Given the description of an element on the screen output the (x, y) to click on. 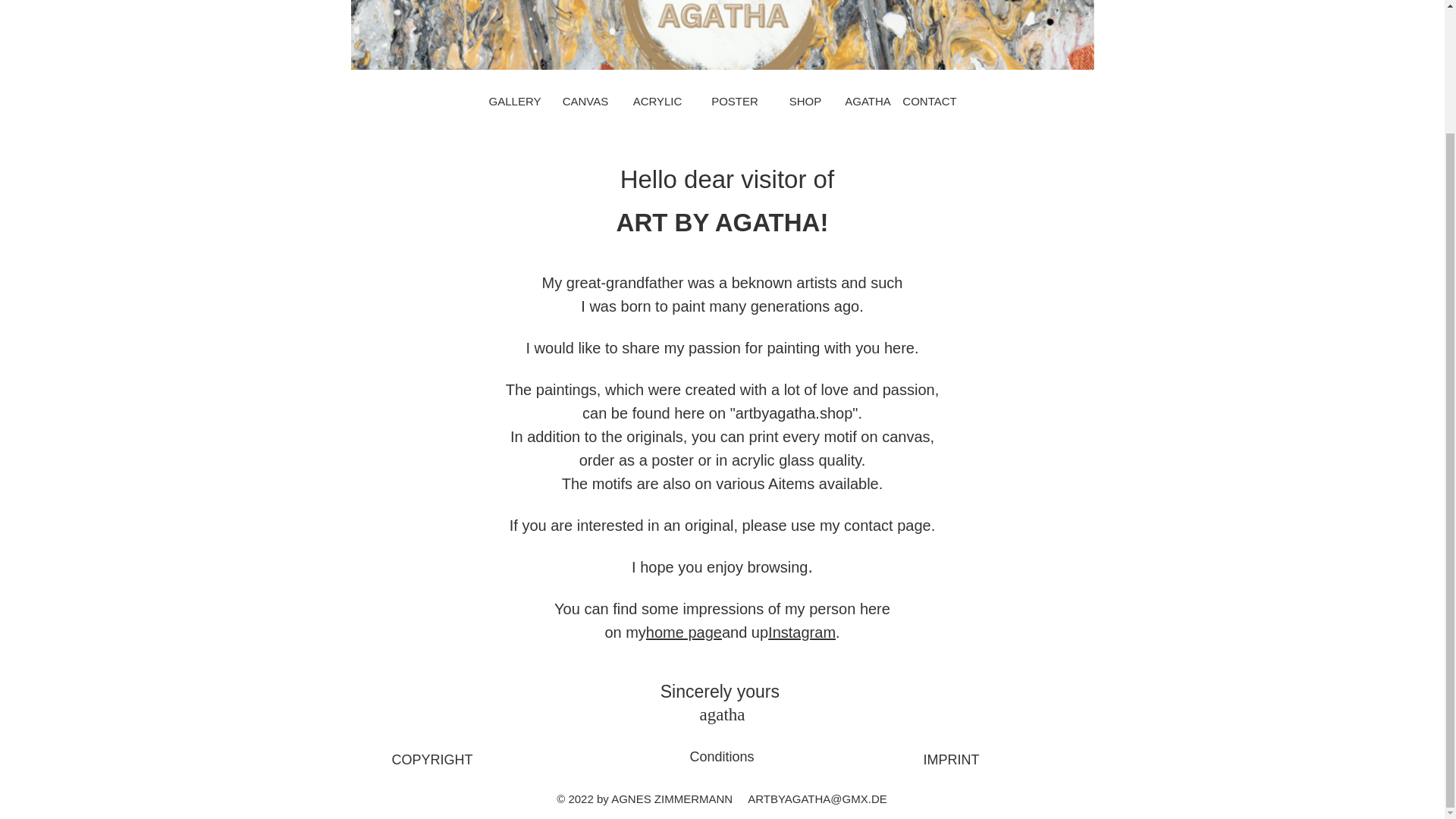
COPYRIGHT (431, 760)
POSTER (734, 100)
Conditions (721, 757)
home page (684, 632)
AGATHA (867, 100)
ACRYLIC (657, 100)
SHOP (805, 100)
CANVAS (584, 100)
Instagram (801, 632)
IMPRINT (950, 760)
GALLERY (513, 100)
CONTACT (930, 100)
